Given the description of an element on the screen output the (x, y) to click on. 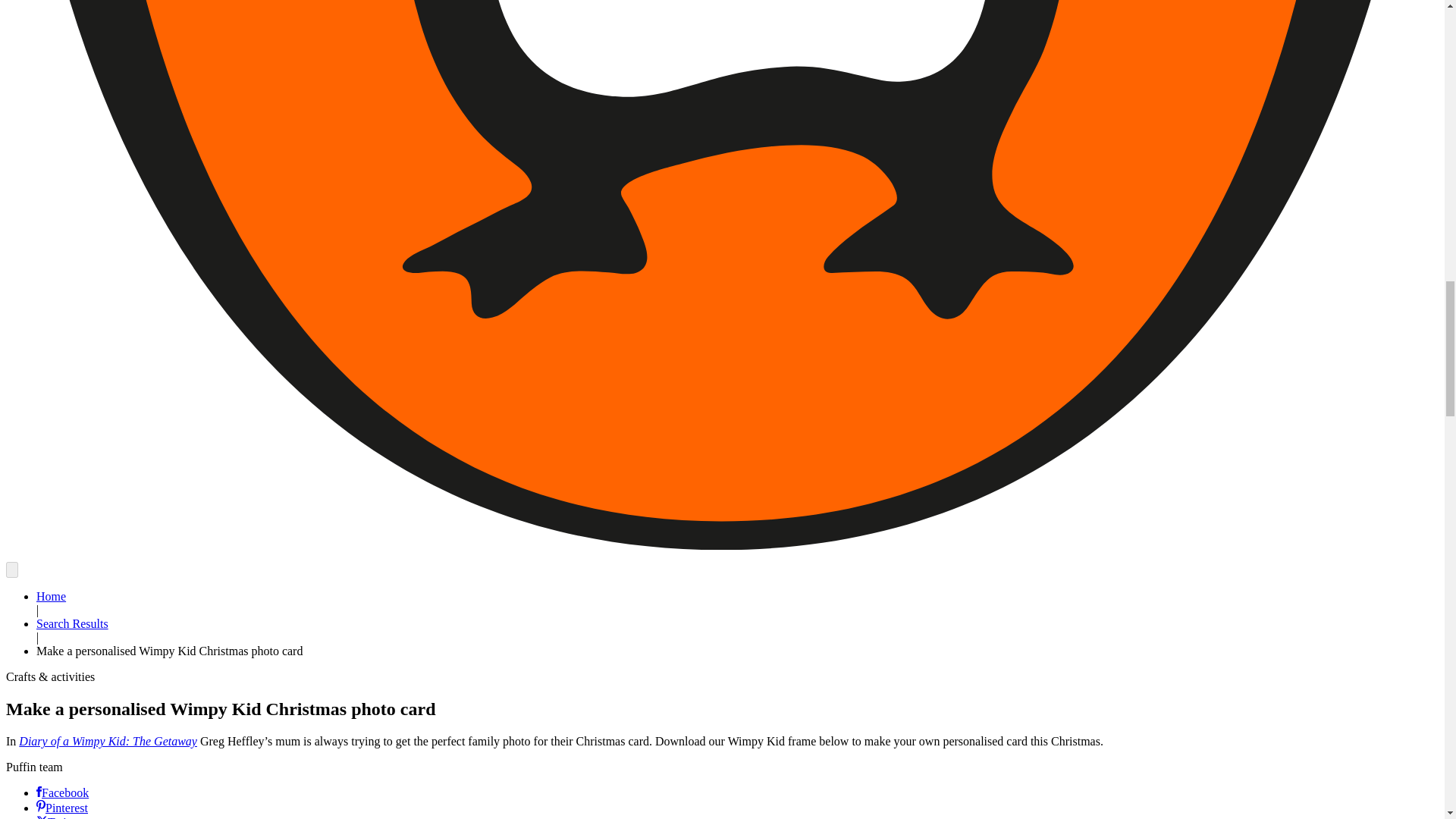
Search Results (71, 623)
Home (50, 595)
Pinterest (61, 807)
Diary of a Wimpy Kid: The Getaway (107, 740)
Twitter (59, 817)
Facebook (62, 792)
